Given the description of an element on the screen output the (x, y) to click on. 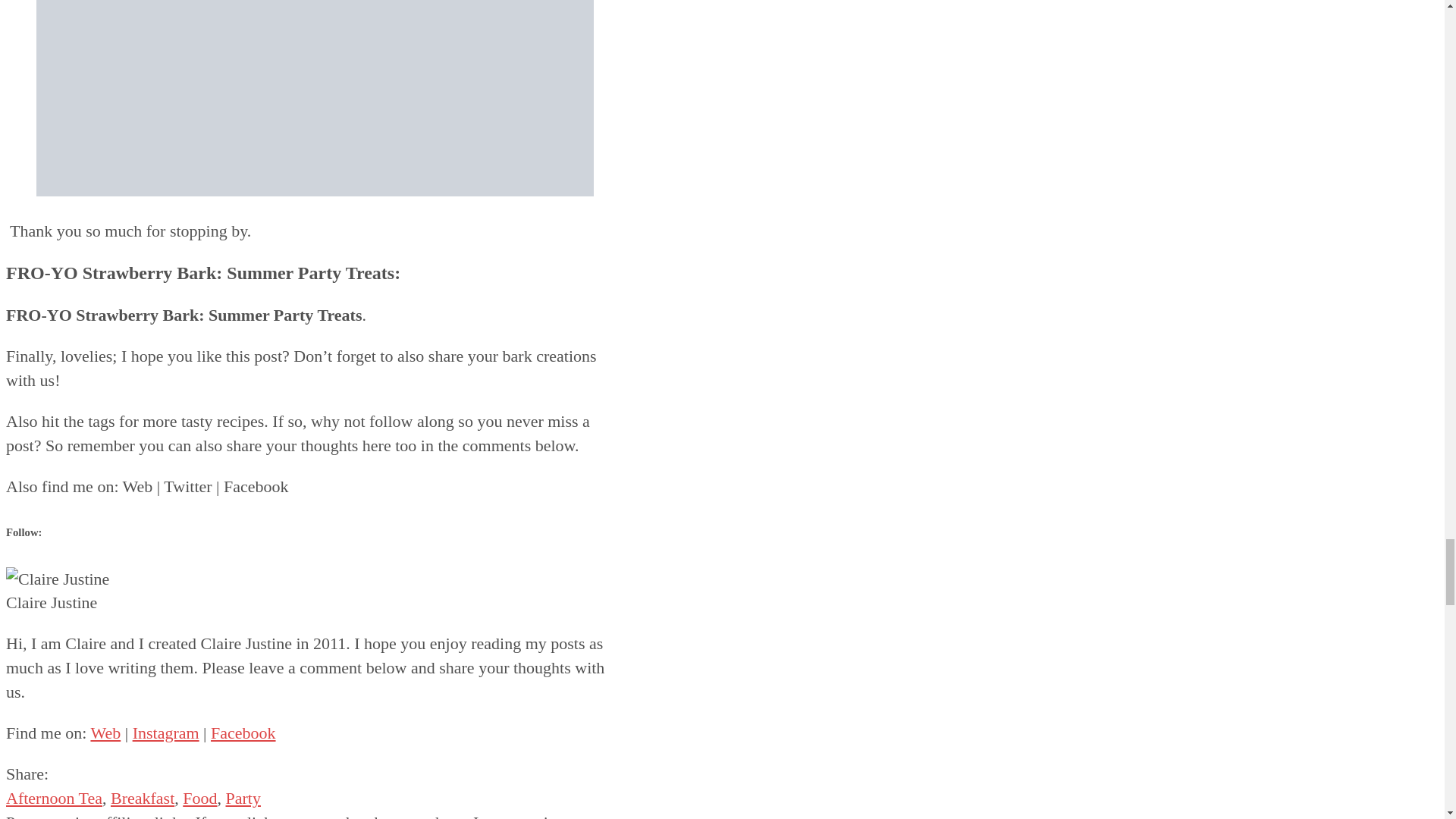
Facebook (243, 732)
Web (105, 732)
FRO-YO Strawberry Bark: Summer Party Treats (315, 98)
Instagram (165, 732)
Food (199, 797)
Breakfast (142, 797)
Afternoon Tea (53, 797)
